Given the description of an element on the screen output the (x, y) to click on. 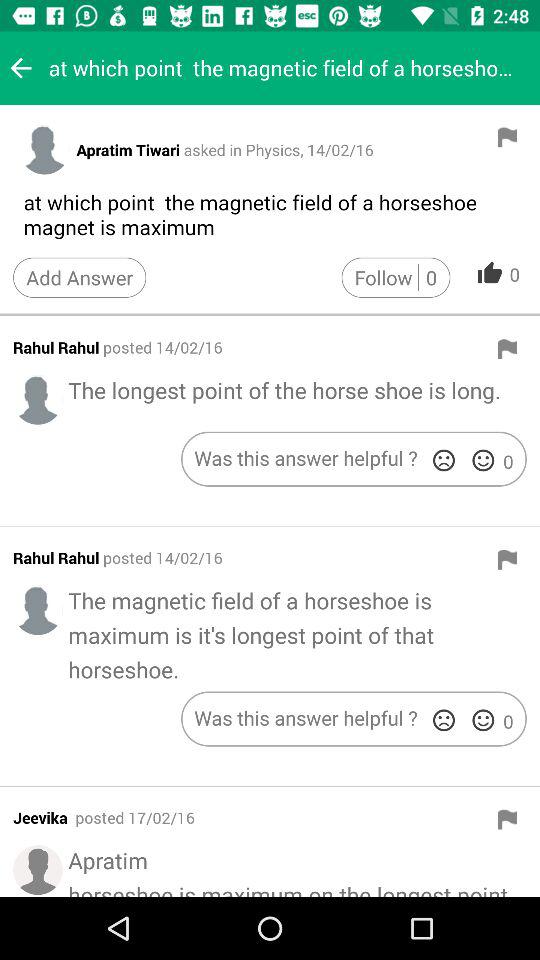
flag answer (507, 137)
